Given the description of an element on the screen output the (x, y) to click on. 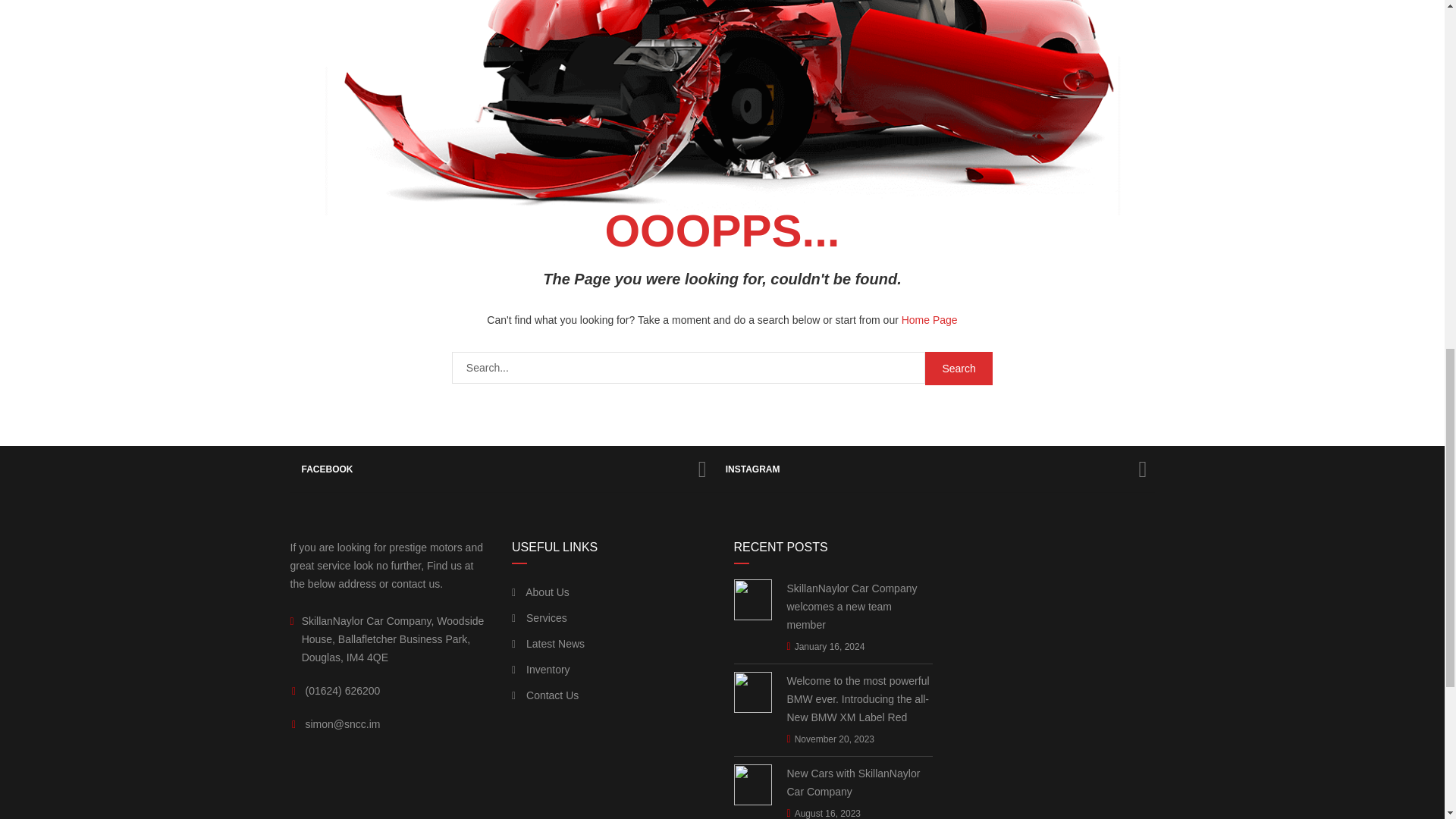
Inventory (541, 669)
INSTAGRAM (934, 469)
Search for: (687, 368)
About Us (540, 592)
Home Page (929, 319)
New Cars with SkillanNaylor Car Company (860, 782)
Latest News (548, 643)
SkillanNaylor Car Company welcomes a new team member (860, 606)
FACEBOOK (501, 469)
Services (539, 618)
